Given the description of an element on the screen output the (x, y) to click on. 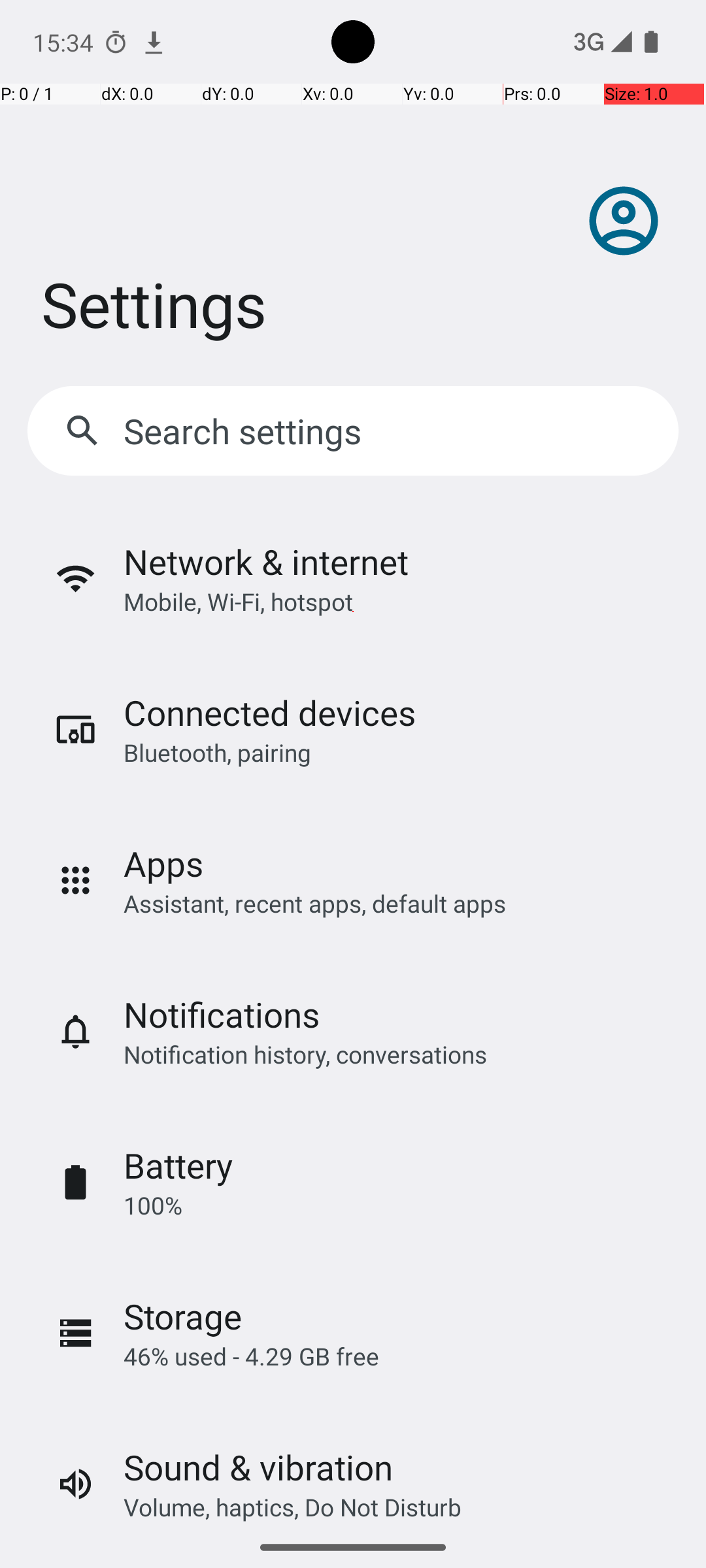
46% used - 4.29 GB free Element type: android.widget.TextView (251, 1355)
